Given the description of an element on the screen output the (x, y) to click on. 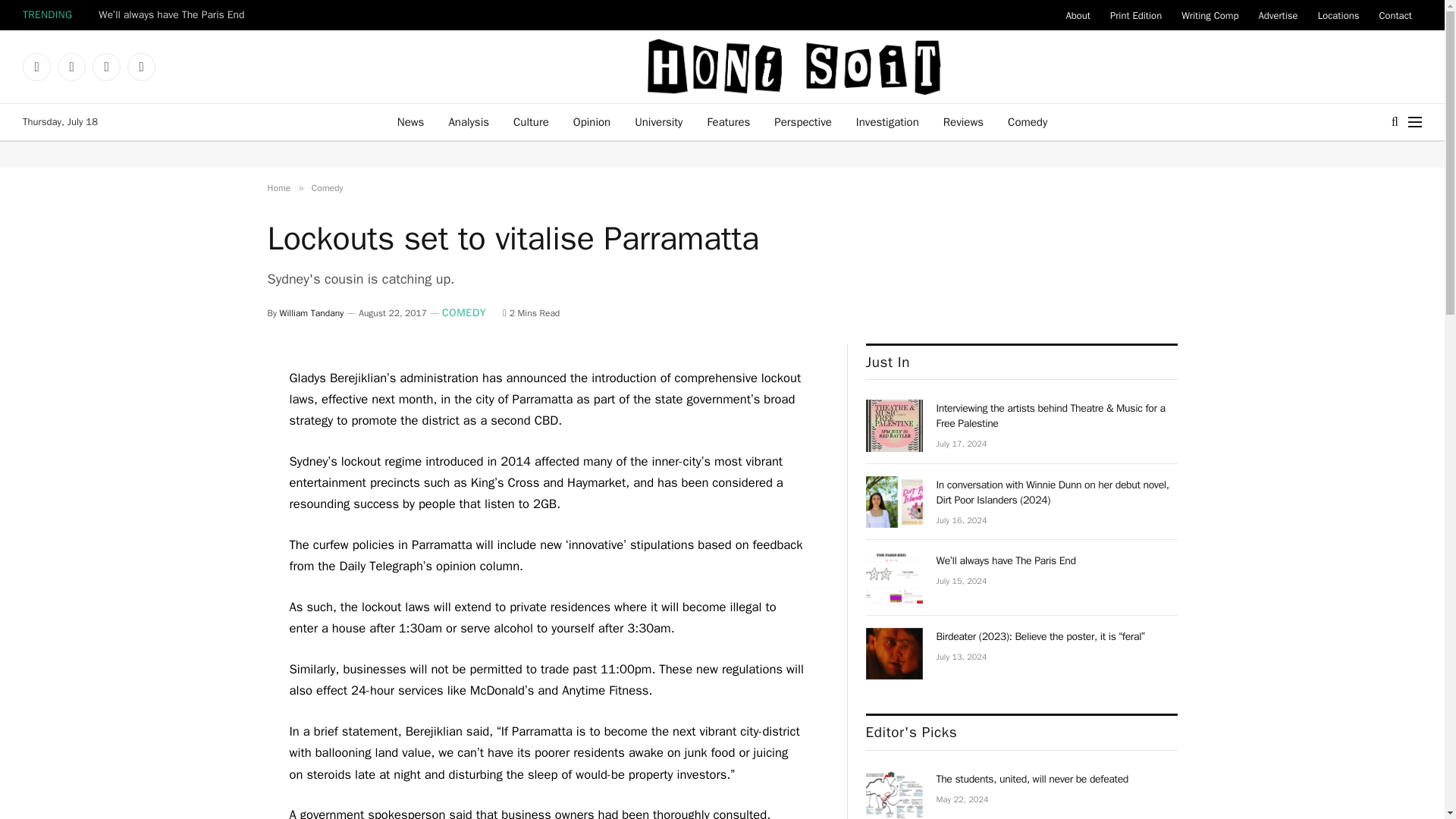
Posts by William Tandany (311, 313)
Contact (1395, 15)
Perspective (802, 122)
Instagram (71, 67)
TikTok (141, 67)
Home (277, 187)
Analysis (467, 122)
Print Edition (1136, 15)
About (1077, 15)
Features (727, 122)
Opinion (591, 122)
Locations (1338, 15)
Writing Comp (1209, 15)
Facebook (36, 67)
Comedy (327, 187)
